Given the description of an element on the screen output the (x, y) to click on. 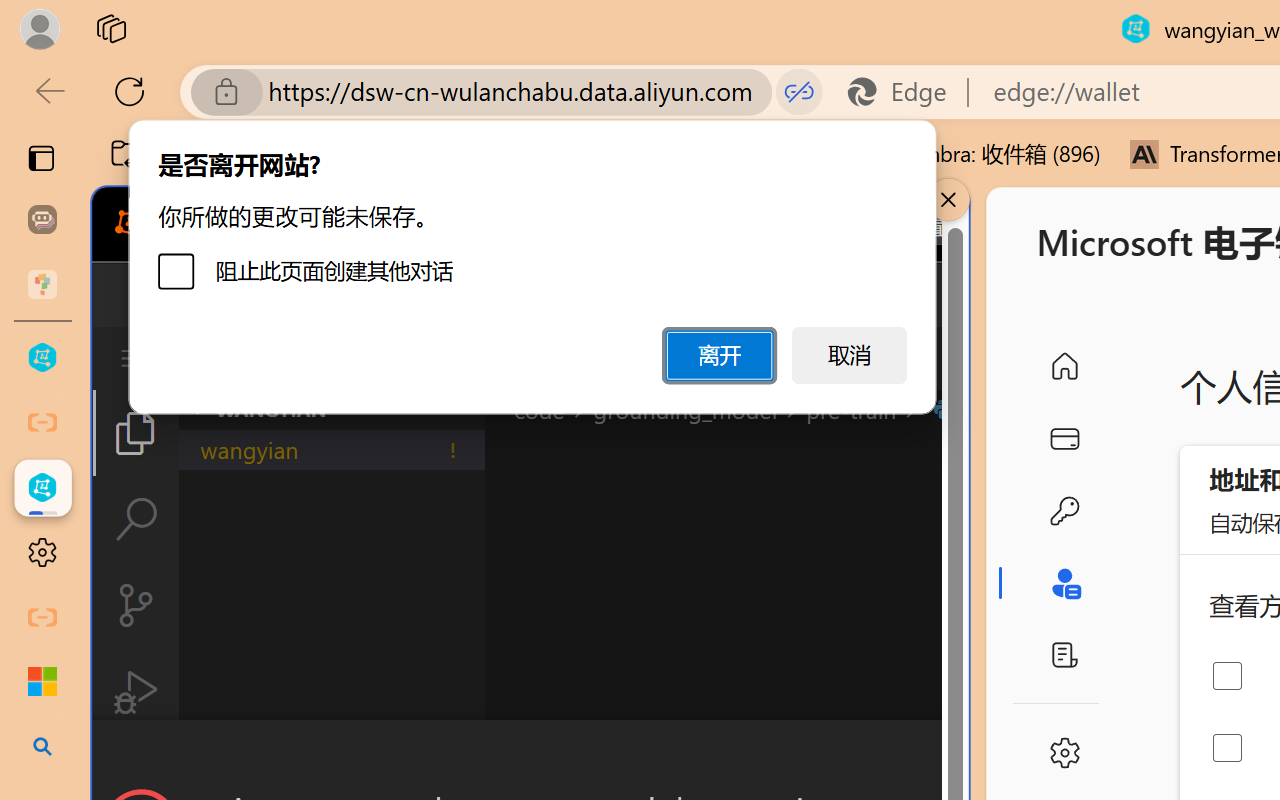
Microsoft security help and learning (42, 681)
Class: actions-container (529, 756)
Run and Debug (Ctrl+Shift+D) (135, 692)
Close Dialog (959, 756)
